Given the description of an element on the screen output the (x, y) to click on. 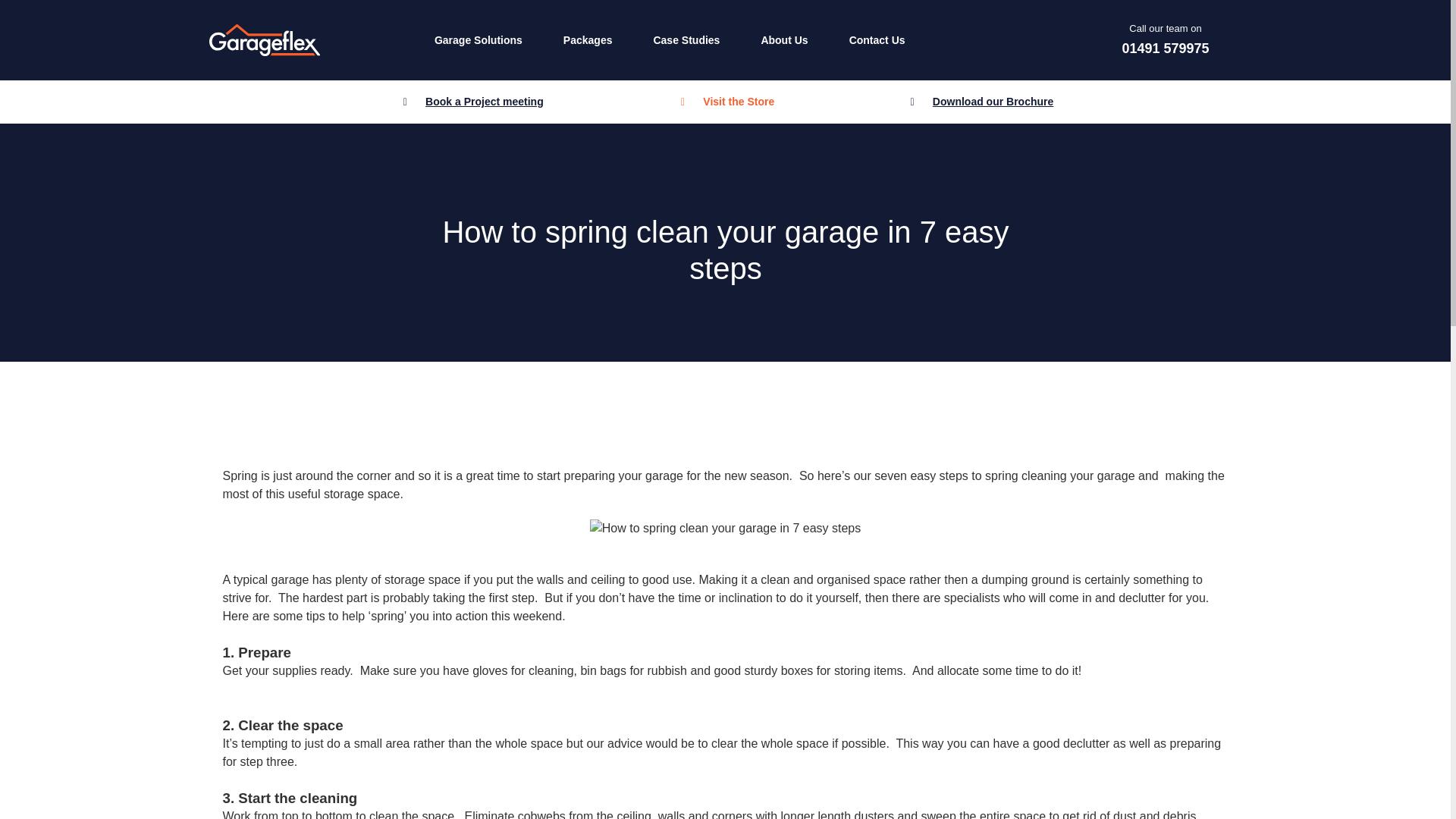
Packages (587, 40)
About Us (784, 40)
Contact Us (876, 40)
Garage Solutions (477, 40)
How to spring clean your garage in 7 easy steps 1 (725, 528)
Case Studies (685, 40)
